Given the description of an element on the screen output the (x, y) to click on. 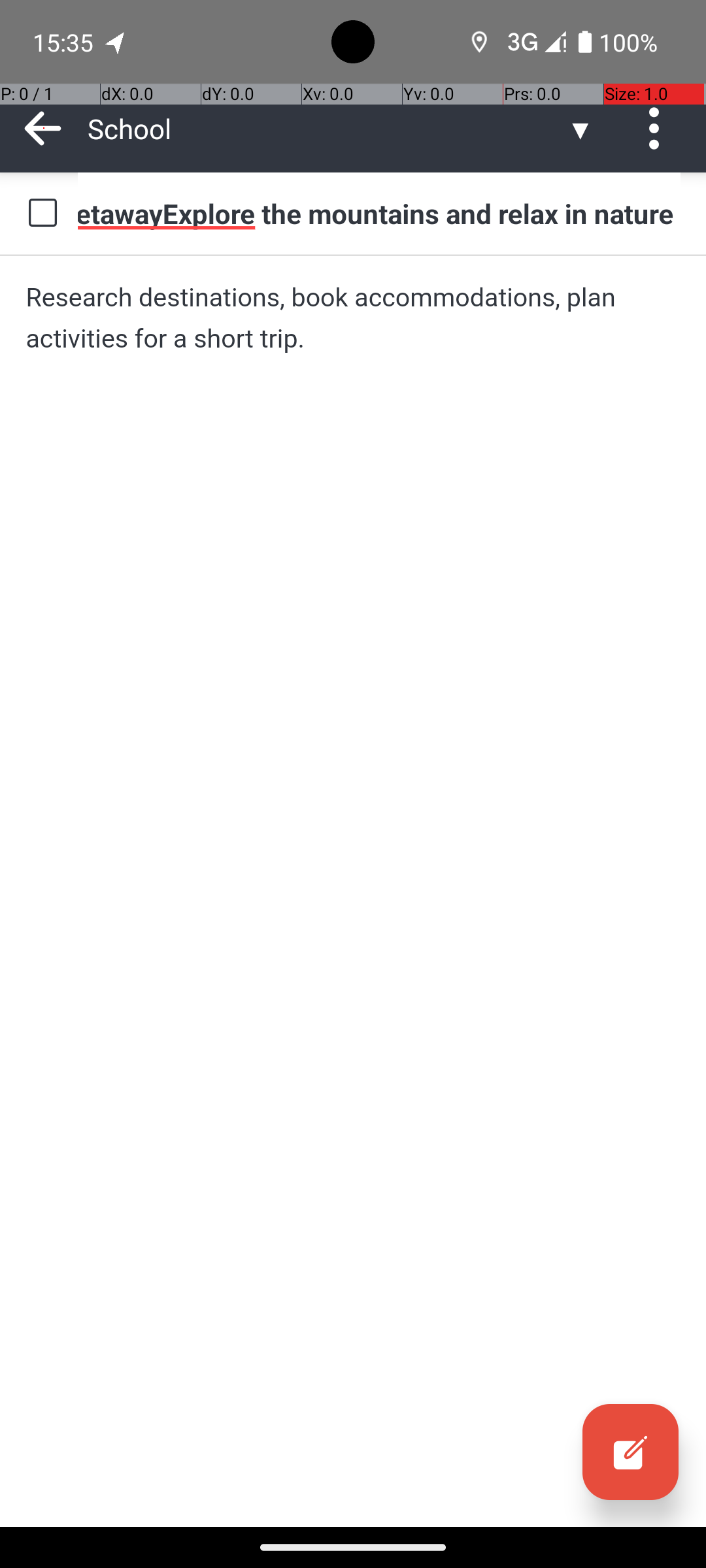
Plan Weekend GetawayExplore the mountains and relax in nature Element type: android.widget.EditText (378, 213)
School Element type: android.widget.TextView (326, 128)
Research destinations, book accommodations, plan activities for a short trip. Element type: android.widget.TextView (352, 317)
